Given the description of an element on the screen output the (x, y) to click on. 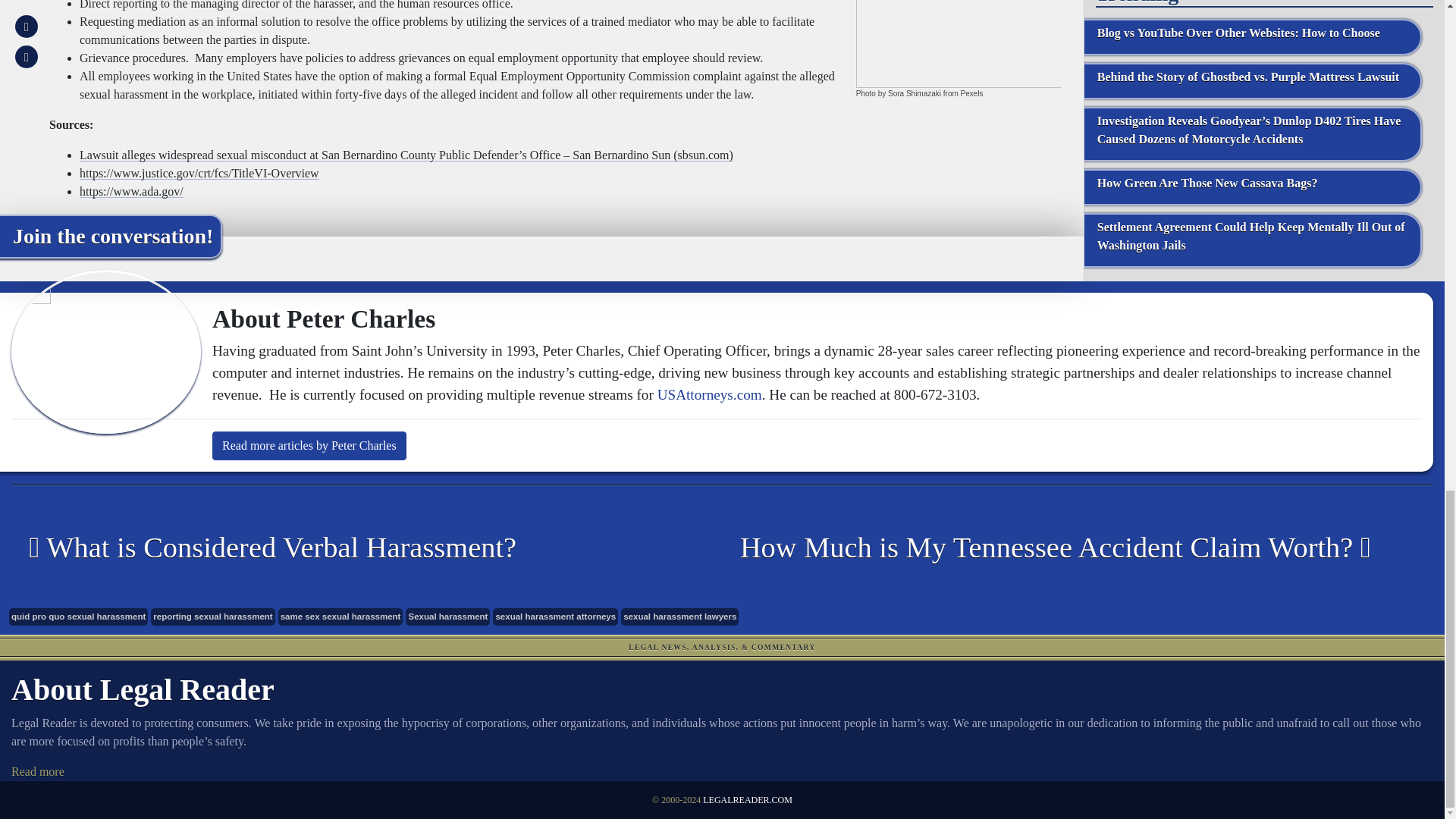
Read more articles by Peter Charles (309, 445)
 What is Considered Verbal Harassment? (355, 548)
quid pro quo sexual harassment (78, 616)
Read more articles by Peter Charles (309, 445)
reporting sexual harassment (213, 616)
USAttorneys.com (709, 394)
How Much is My Tennessee Accident Claim Worth?  (1066, 548)
same sex sexual harassment (340, 616)
